Given the description of an element on the screen output the (x, y) to click on. 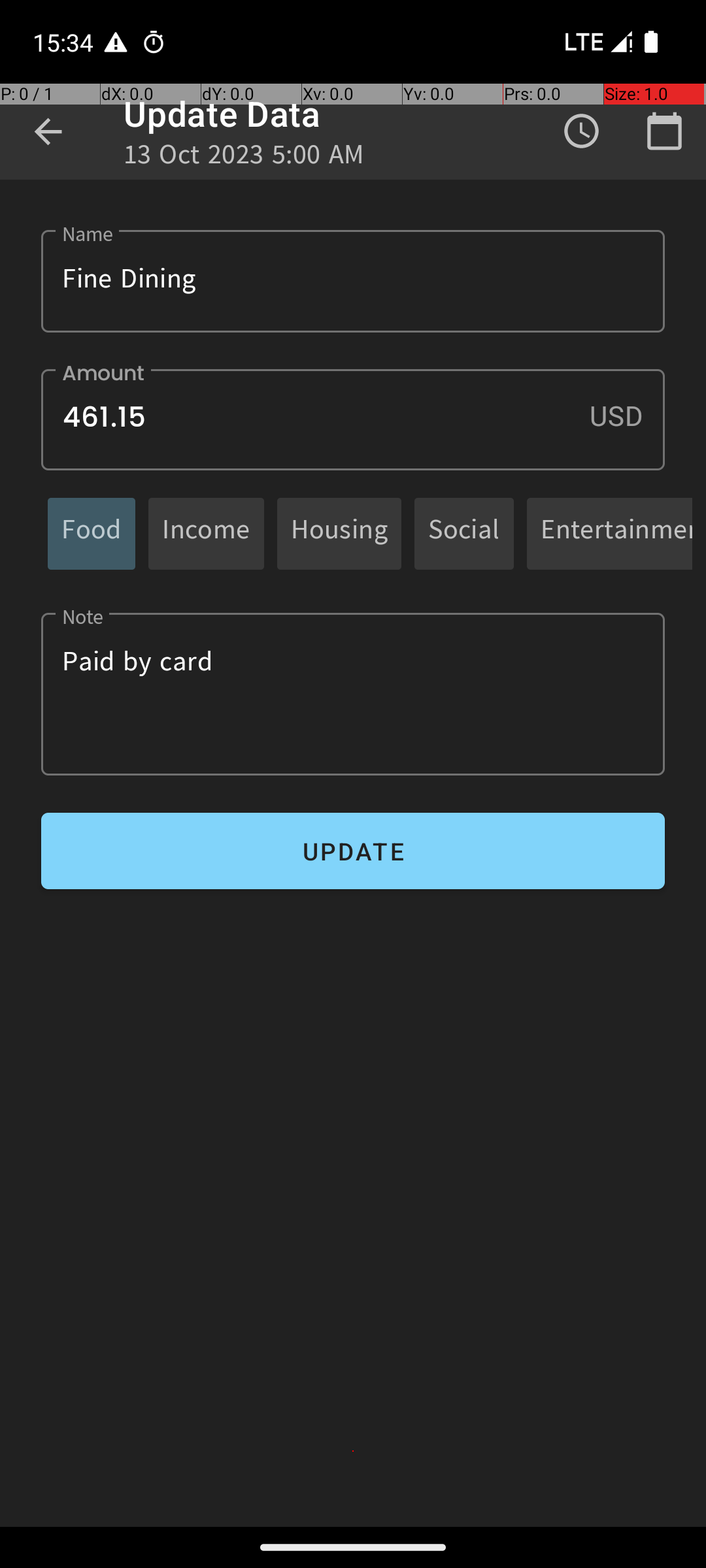
13 Oct 2023 5:00 AM Element type: android.widget.TextView (243, 157)
Fine Dining Element type: android.widget.EditText (352, 280)
461.15 Element type: android.widget.EditText (352, 419)
Paid by card Element type: android.widget.EditText (352, 693)
